Given the description of an element on the screen output the (x, y) to click on. 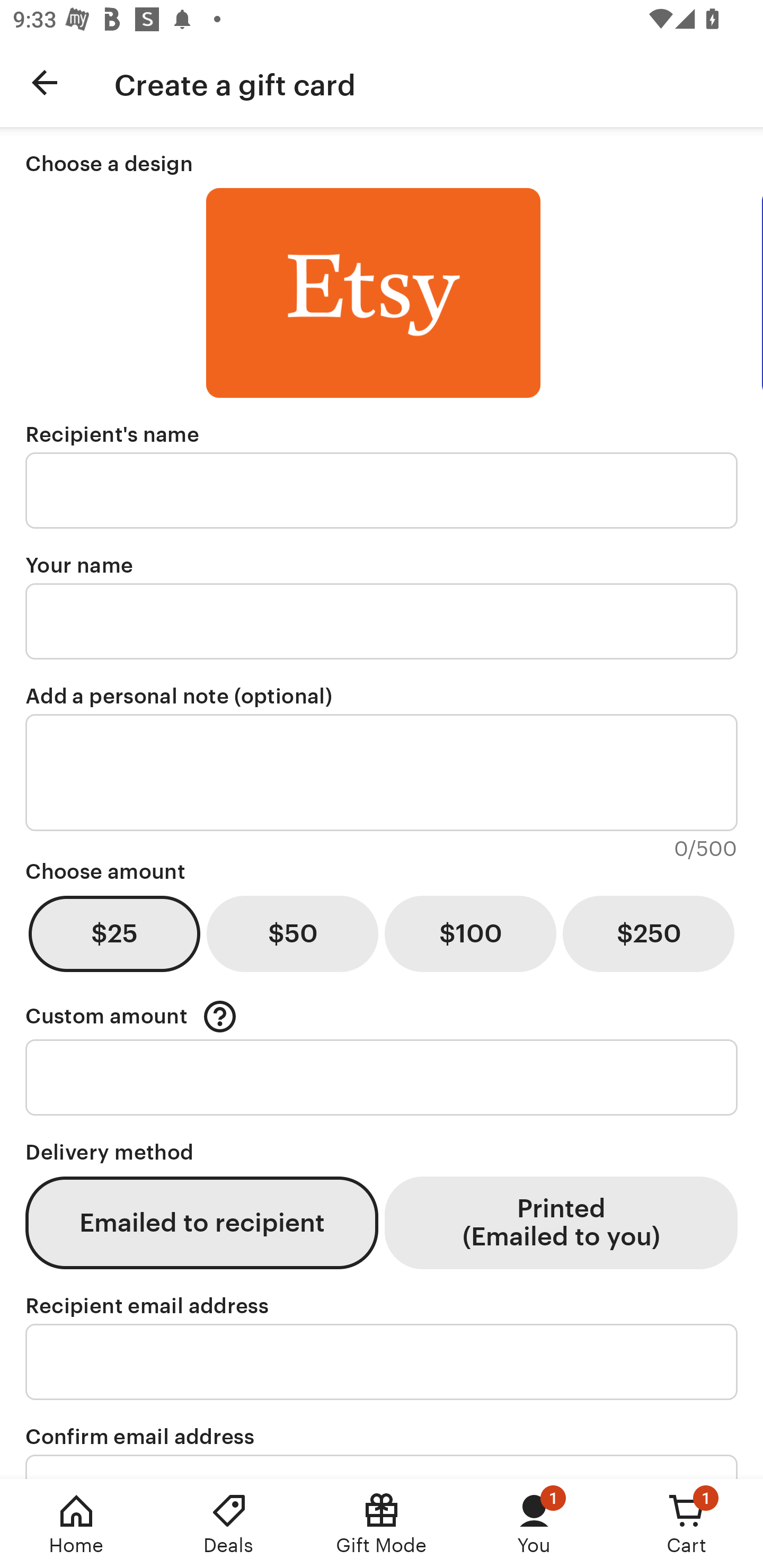
Navigate up (44, 82)
Design preview (372, 293)
$25 (113, 933)
$50 (292, 933)
$100 (470, 933)
$250 (648, 933)
Custom amount (131, 1015)
Emailed to recipient (201, 1222)
Printed
(Emailed to you) (560, 1222)
Home (76, 1523)
Deals (228, 1523)
Gift Mode (381, 1523)
Cart, 1 new notification Cart (686, 1523)
